Given the description of an element on the screen output the (x, y) to click on. 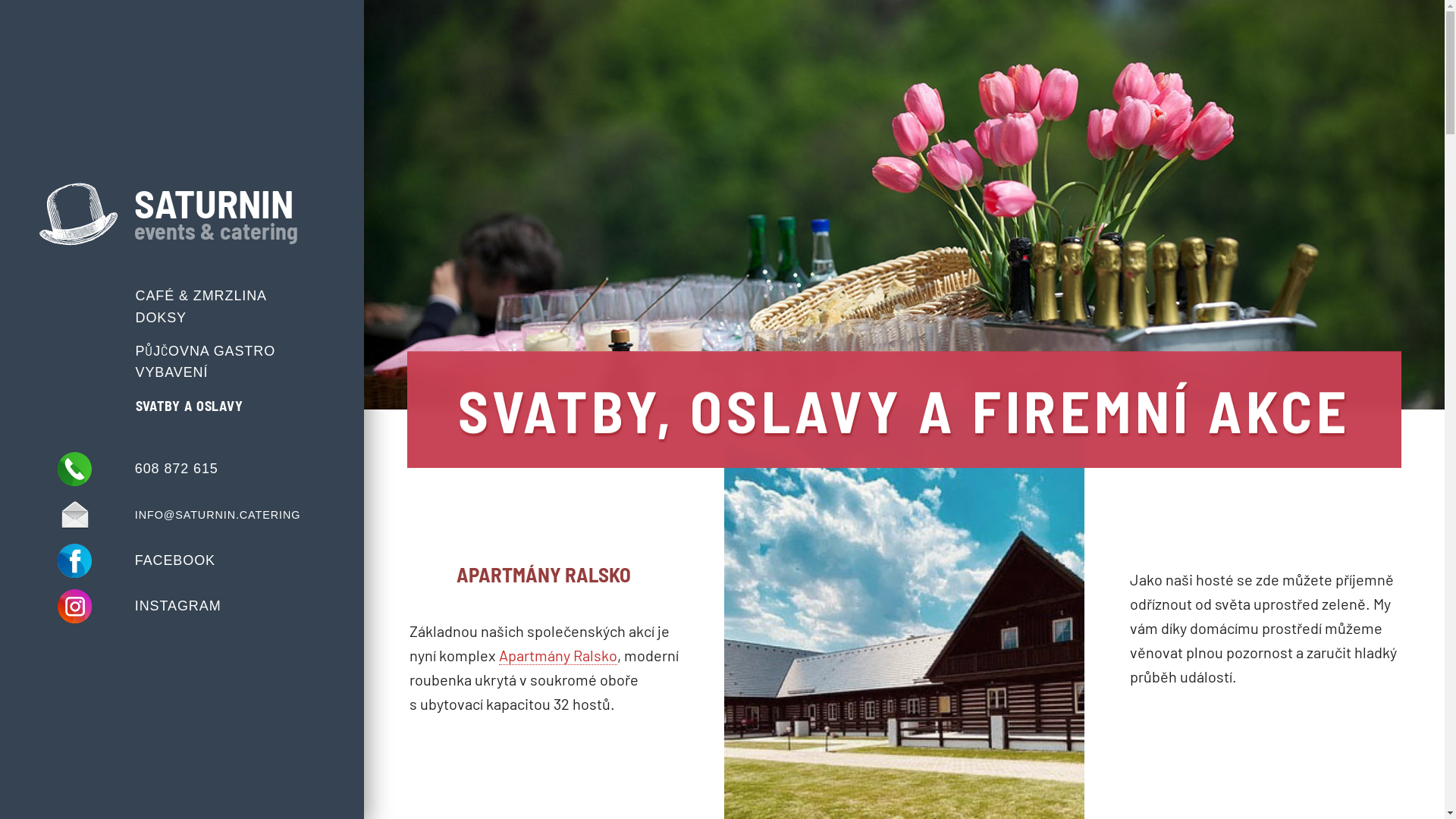
SATURNIN
events & catering Element type: text (181, 213)
SVATBY A OSLAVY Element type: text (227, 406)
INSTAGRAM Element type: text (181, 606)
INFO@SATURNIN.CATERING Element type: text (181, 515)
FACEBOOK Element type: text (181, 560)
608 872 615 Element type: text (181, 469)
